Given the description of an element on the screen output the (x, y) to click on. 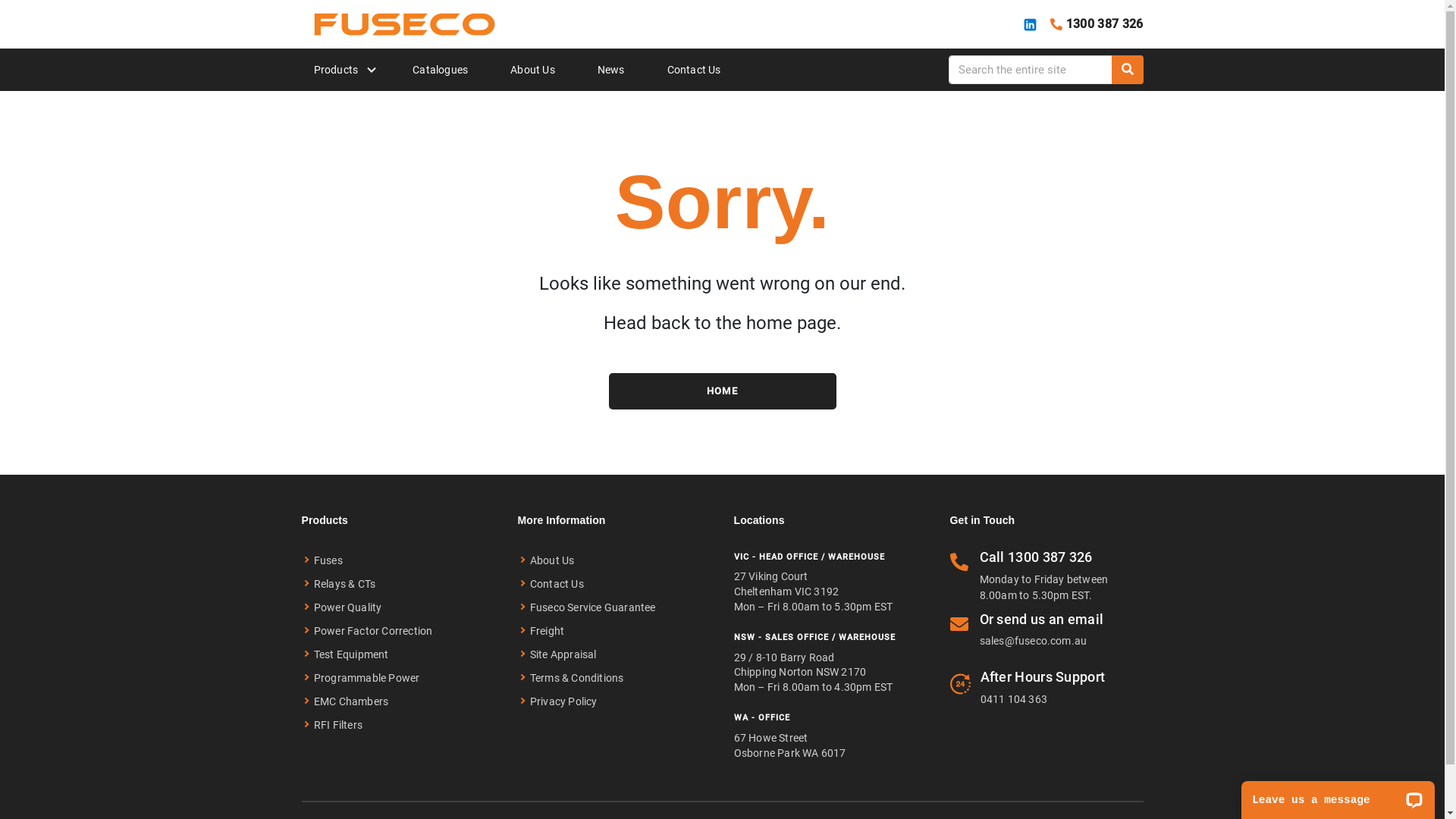
Freight Element type: text (542, 631)
Products Element type: text (335, 69)
About Us Element type: text (532, 69)
Privacy Policy Element type: text (558, 701)
Relays & CTs Element type: text (340, 584)
Programmable Power Element type: text (362, 678)
0411 104 363 Element type: text (1012, 699)
Site Appraisal Element type: text (558, 654)
1300 387 326 Element type: text (1049, 556)
Fuses Element type: text (323, 560)
HOME Element type: text (721, 391)
Test Equipment Element type: text (346, 654)
About Us Element type: text (547, 560)
1300 387 326 Element type: text (1090, 24)
Power Quality Element type: text (343, 607)
EMC Chambers Element type: text (346, 701)
Catalogues Element type: text (440, 69)
News Element type: text (611, 69)
Power Factor Correction Element type: text (368, 631)
Or send us an email Element type: text (1041, 619)
After Hours Support Element type: text (1041, 676)
Terms & Conditions Element type: text (572, 678)
RFI Filters Element type: text (334, 725)
sales@fuseco.com.au Element type: text (1033, 640)
Fuseco Service Guarantee Element type: text (587, 607)
Contact Us Element type: text (551, 584)
Contact Us Element type: text (694, 69)
